Given the description of an element on the screen output the (x, y) to click on. 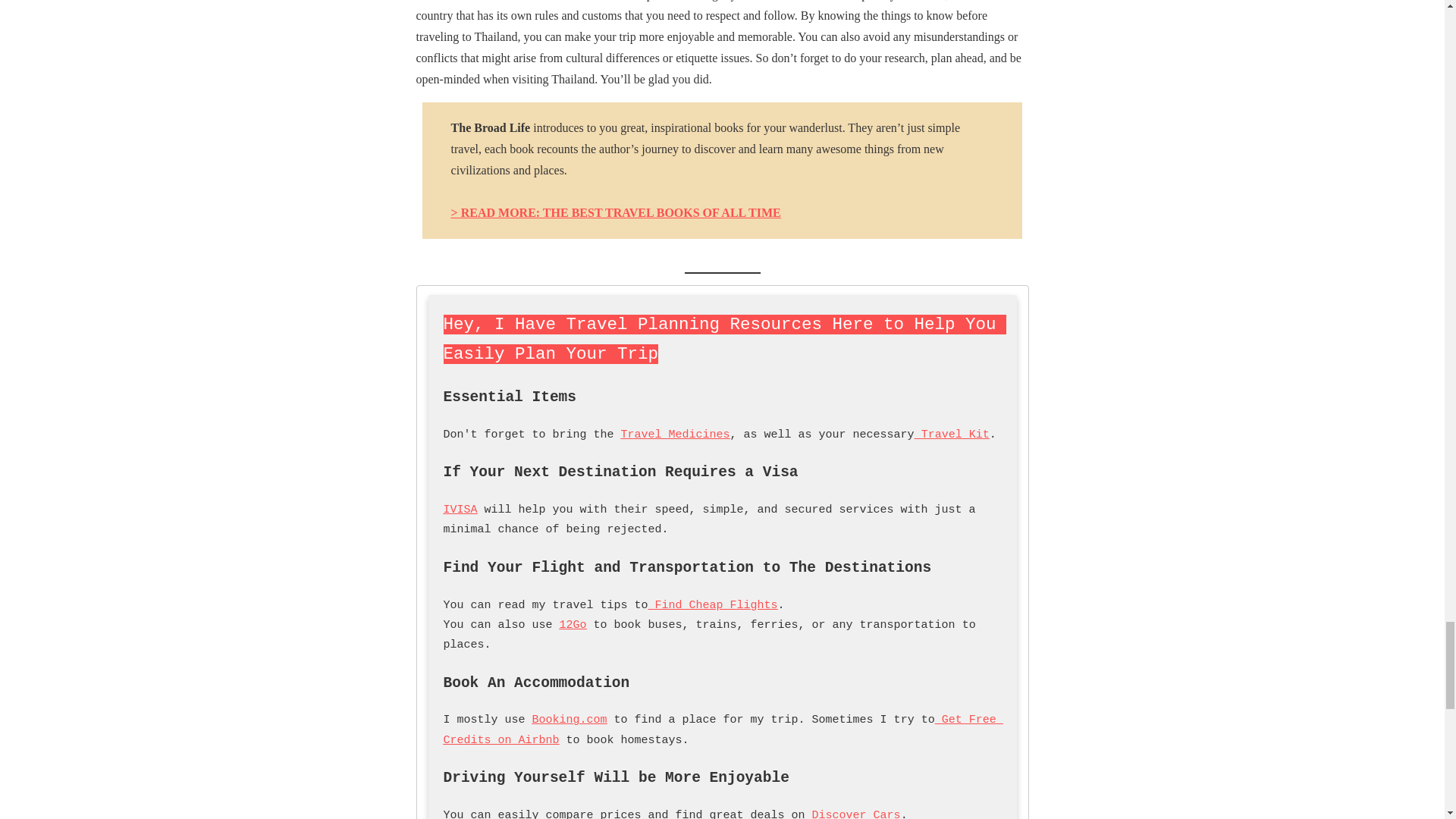
IVISA (459, 509)
 Travel Kit (952, 434)
Discover Cars (856, 814)
12Go (572, 625)
 Find Cheap Flights (712, 604)
 Get Free Credits on Airbnb (722, 729)
Booking.com (569, 719)
Travel Medicines (675, 434)
